Given the description of an element on the screen output the (x, y) to click on. 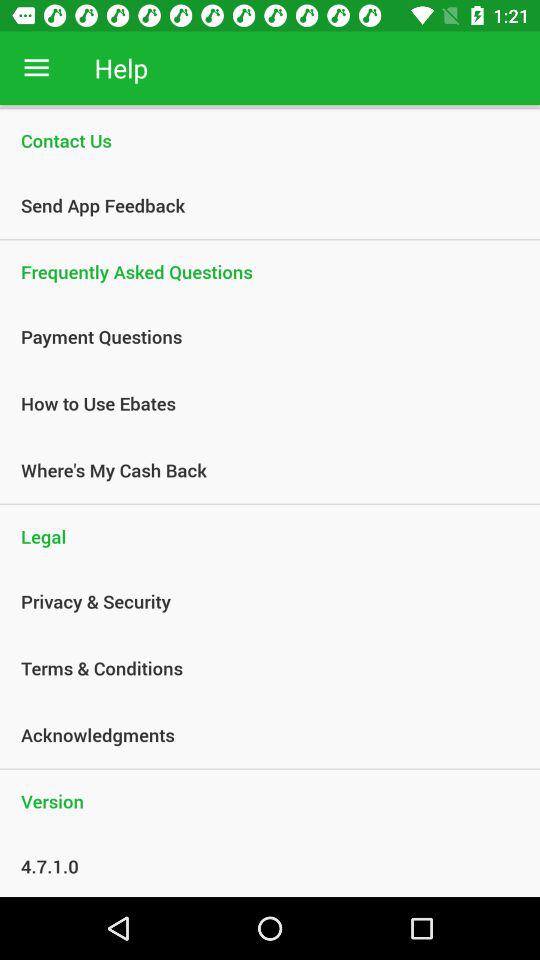
open send app feedback icon (259, 205)
